Given the description of an element on the screen output the (x, y) to click on. 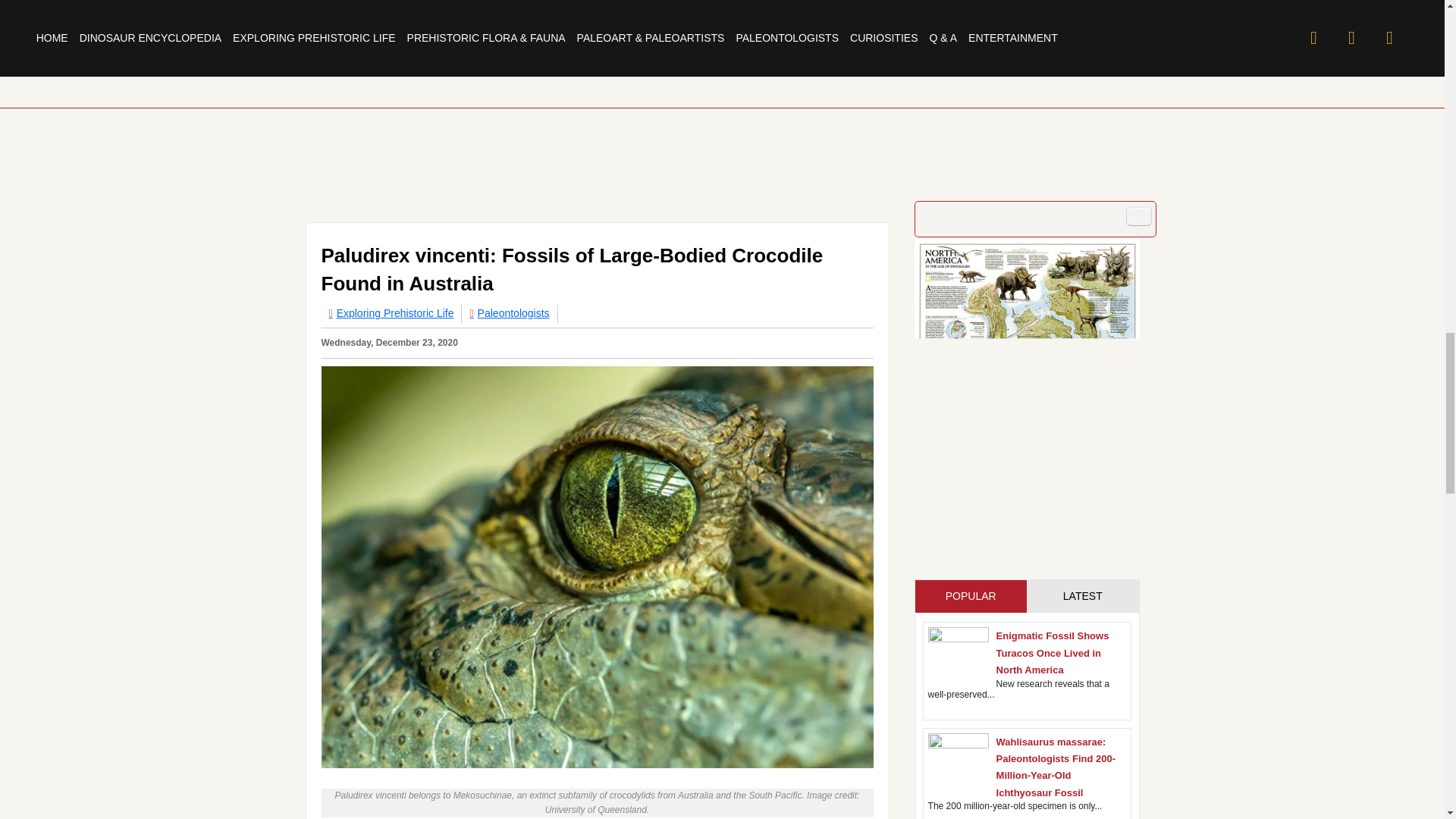
Paleontologists (508, 313)
Enigmatic Fossil Shows Turacos Once Lived in North America (1052, 652)
Search (1138, 216)
Exploring Prehistoric Life (391, 313)
LATEST (1082, 595)
Enter the terms you wish to search for. (1035, 218)
Search (1138, 216)
